Given the description of an element on the screen output the (x, y) to click on. 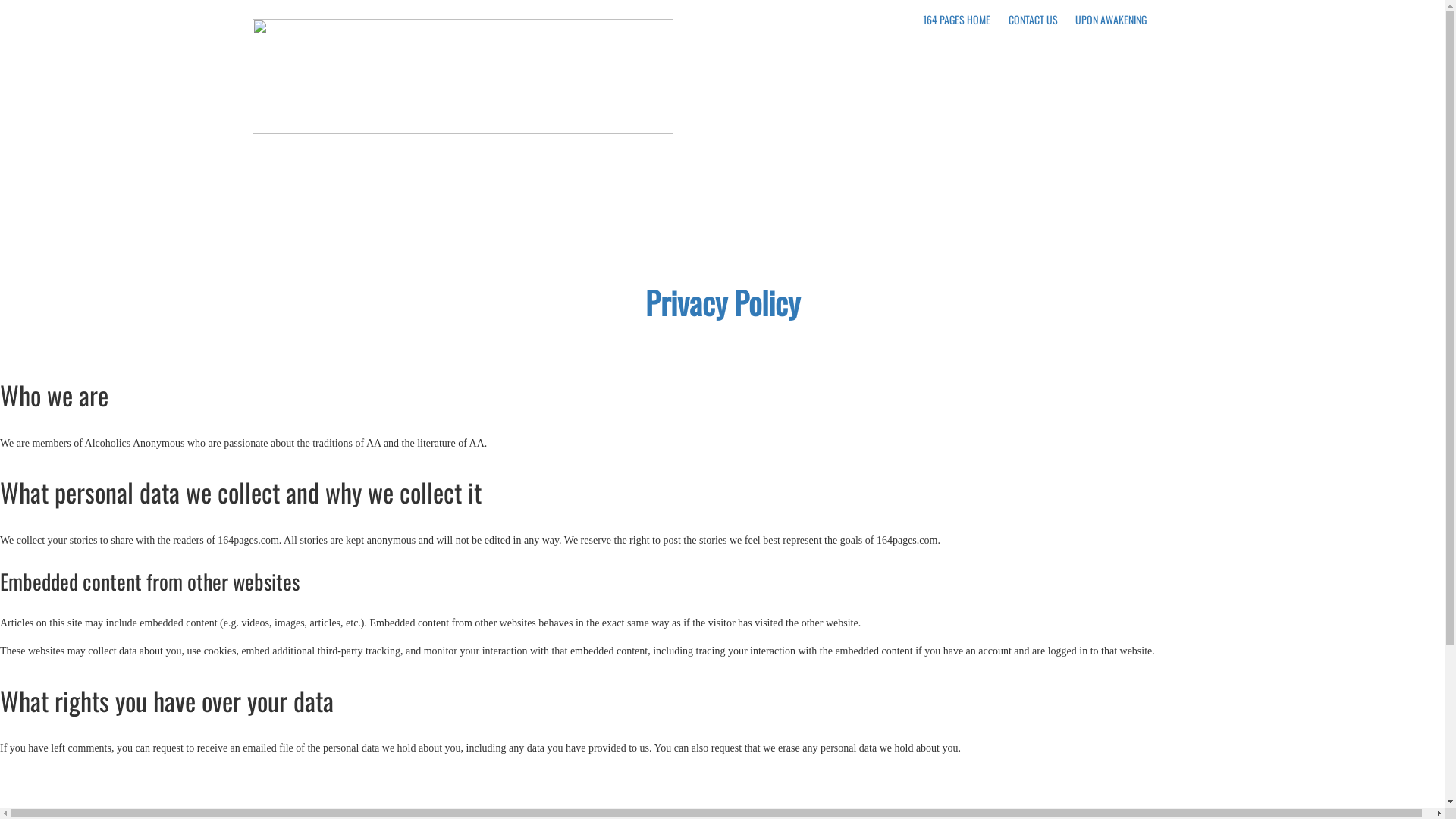
CONTACT US Element type: text (1032, 19)
164 PAGES HOME Element type: text (956, 19)
UPON AWAKENING Element type: text (1110, 19)
Privacy Policy Element type: text (722, 302)
